Given the description of an element on the screen output the (x, y) to click on. 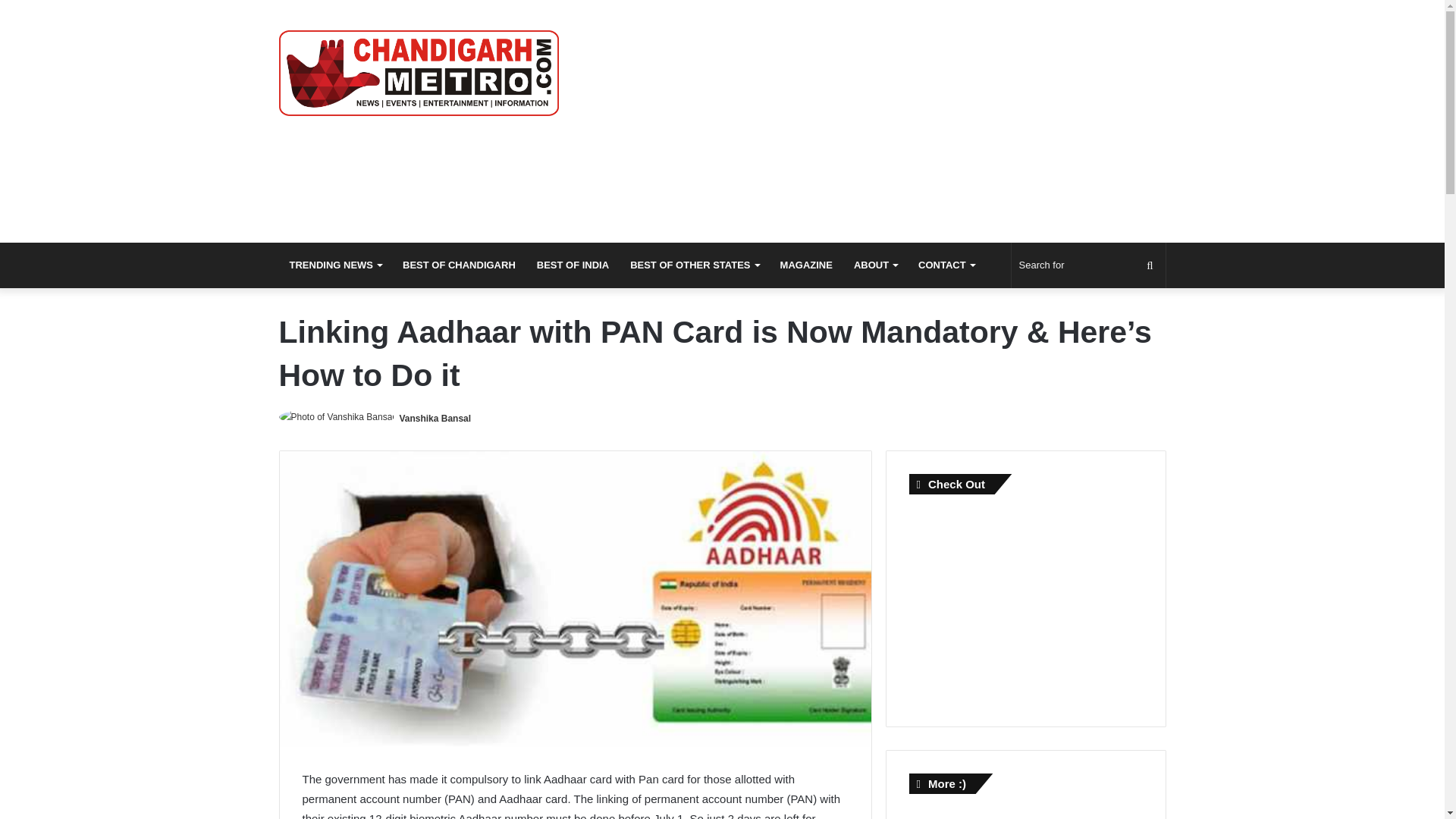
Vanshika Bansal (434, 418)
MAGAZINE (806, 265)
Chandigarh Metro (419, 73)
Search for (1088, 265)
BEST OF INDIA (572, 265)
ABOUT (875, 265)
BEST OF CHANDIGARH (458, 265)
BEST OF OTHER STATES (694, 265)
TRENDING NEWS (336, 265)
CONTACT (946, 265)
Vanshika Bansal (434, 418)
